Given the description of an element on the screen output the (x, y) to click on. 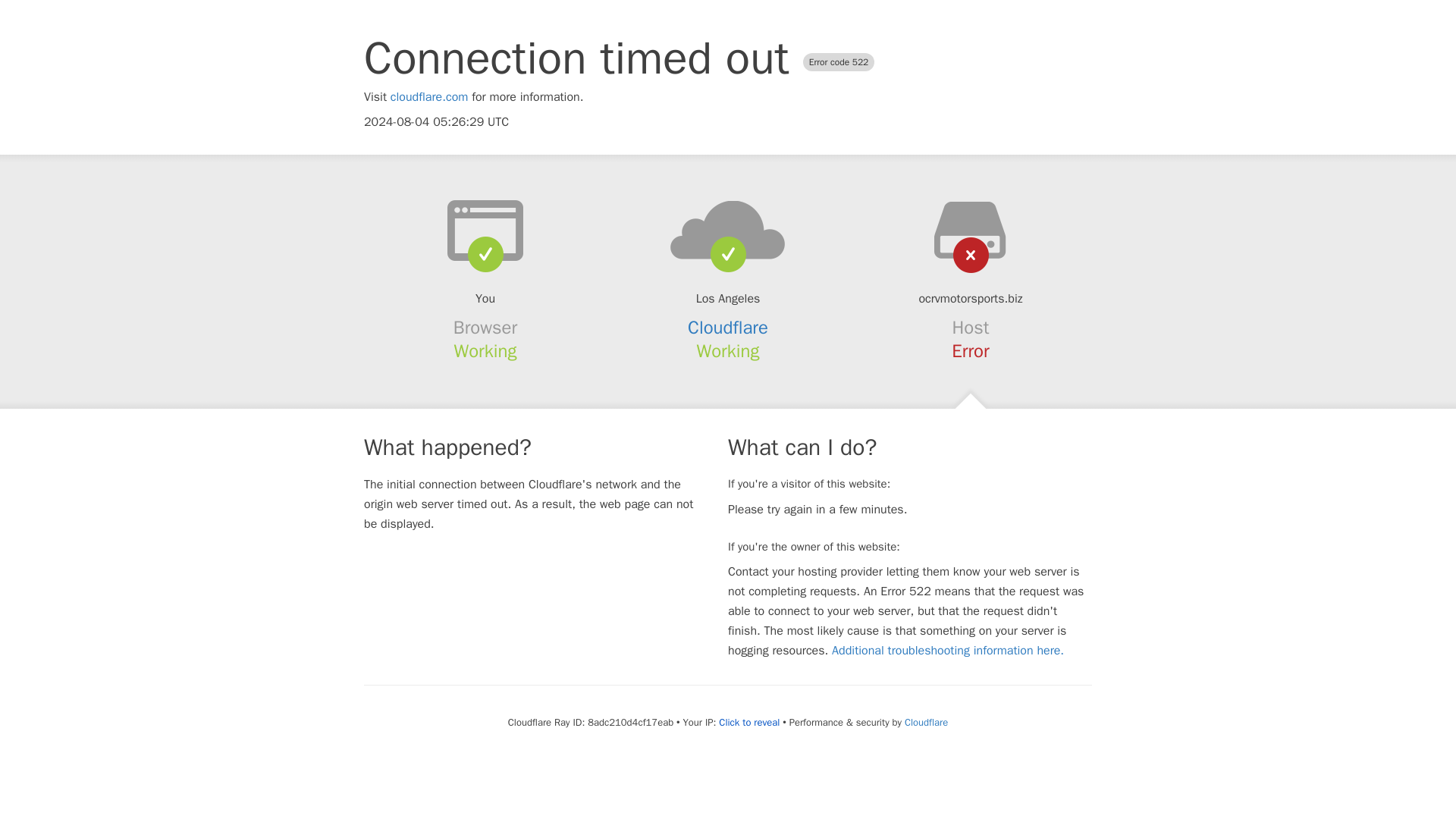
Cloudflare (925, 721)
Click to reveal (748, 722)
Cloudflare (727, 327)
cloudflare.com (429, 96)
Additional troubleshooting information here. (947, 650)
